Given the description of an element on the screen output the (x, y) to click on. 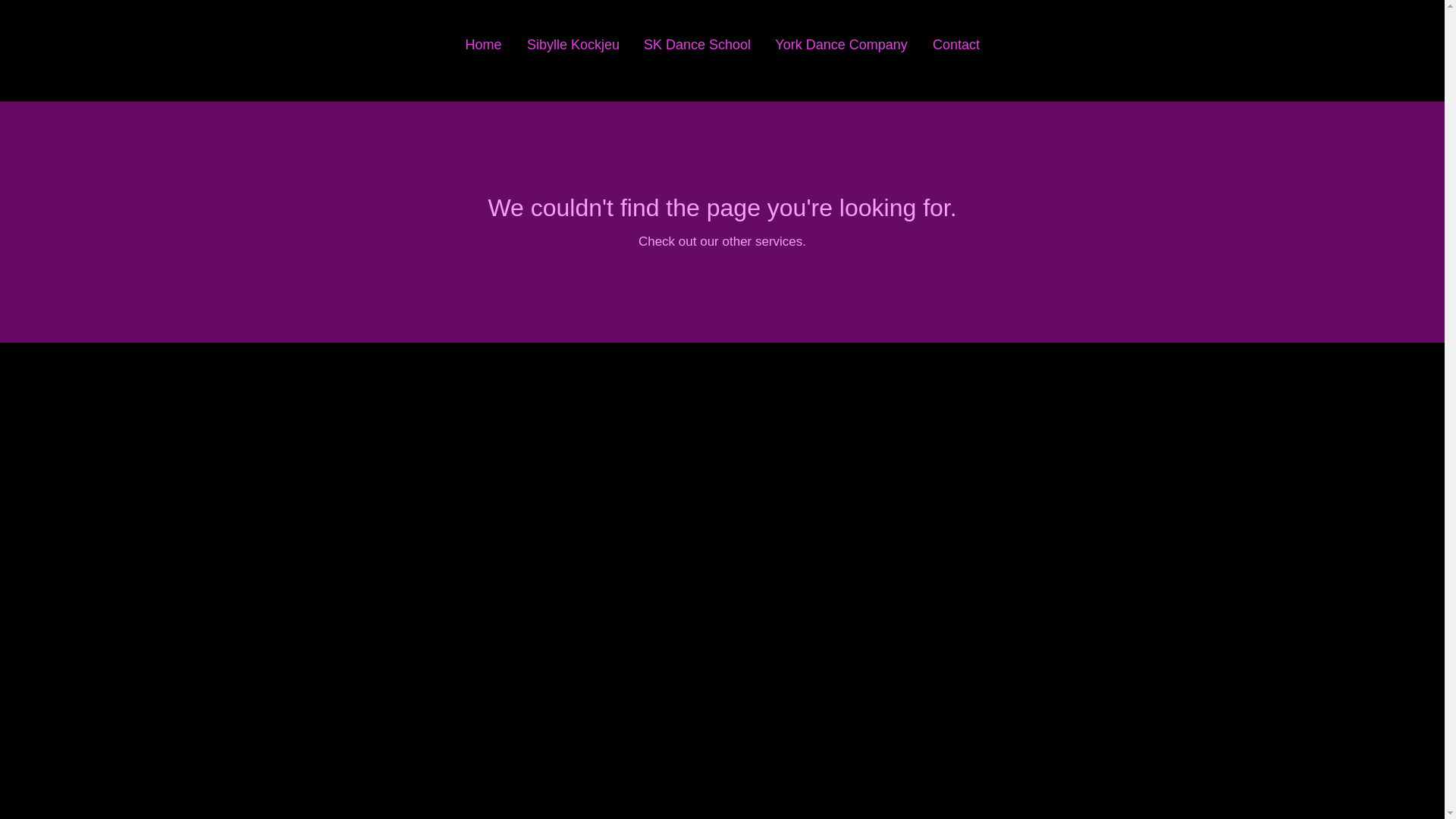
Sibylle Kockjeu (572, 44)
Contact (955, 44)
Home (482, 44)
SK Dance School (696, 44)
York Dance Company (840, 44)
